Given the description of an element on the screen output the (x, y) to click on. 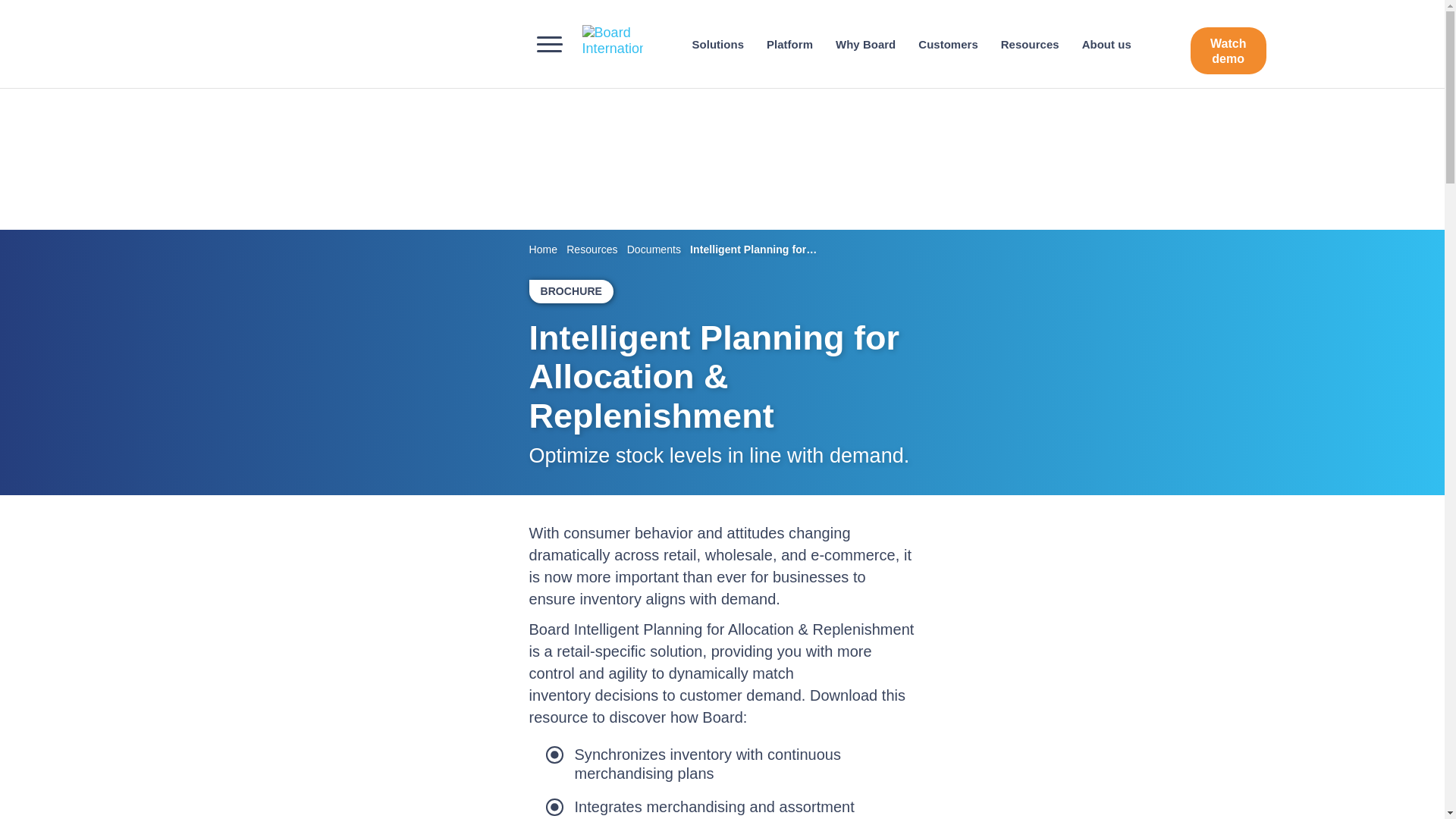
Toggle aside menu (555, 44)
Board International (612, 40)
Solutions (718, 43)
Customers (947, 43)
Platform (789, 43)
Why Board (865, 43)
